Given the description of an element on the screen output the (x, y) to click on. 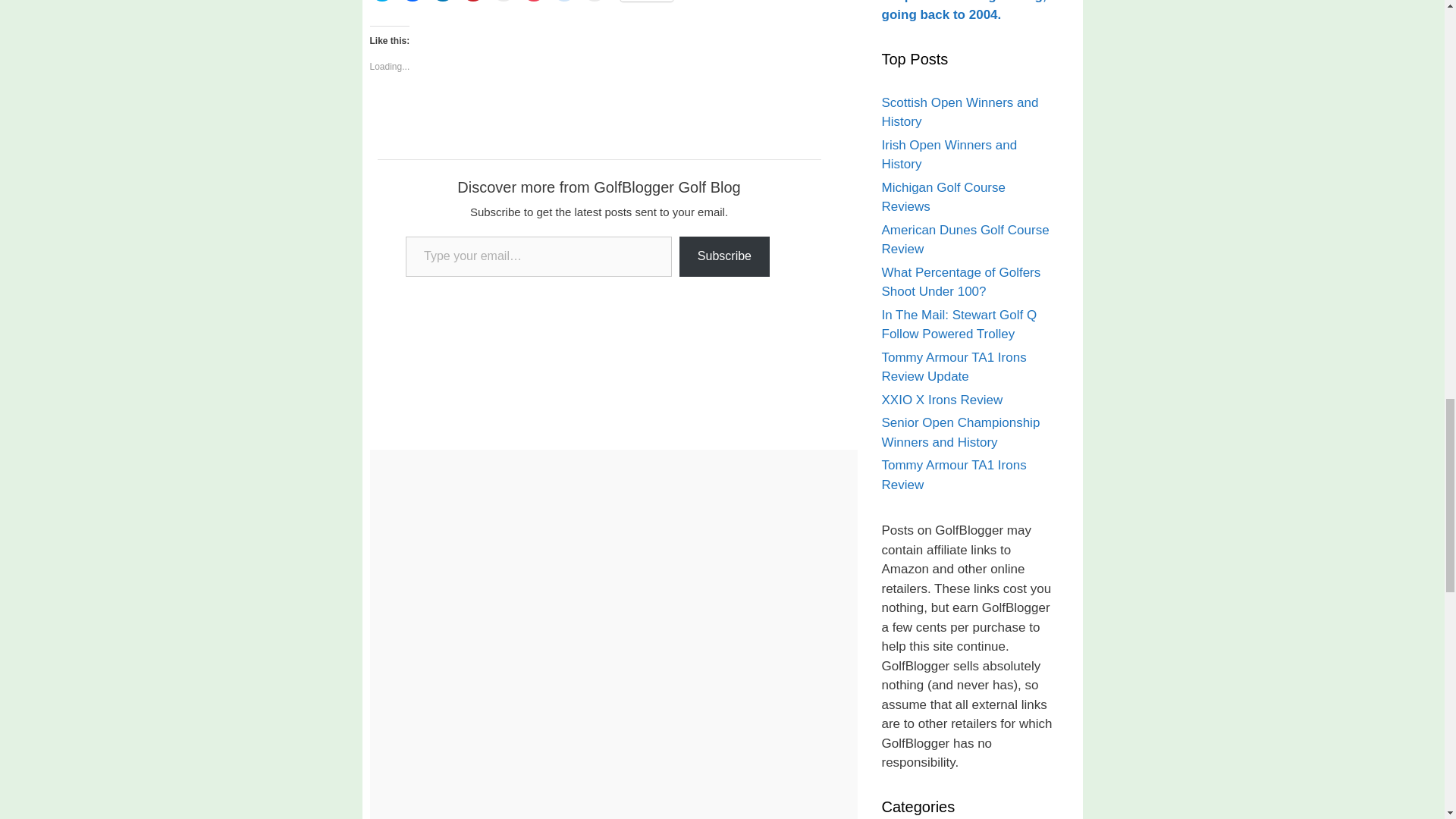
Click to share on Pocket (533, 0)
Click to share on Pinterest (472, 0)
Click to share on Reddit (563, 0)
Subscribe (724, 256)
Click to share on Facebook (412, 0)
Click to share on Twitter (381, 0)
Click to share on LinkedIn (442, 0)
Please fill in this field. (538, 256)
More (647, 0)
Click to print (594, 0)
Click to email a link to a friend (503, 0)
